Given the description of an element on the screen output the (x, y) to click on. 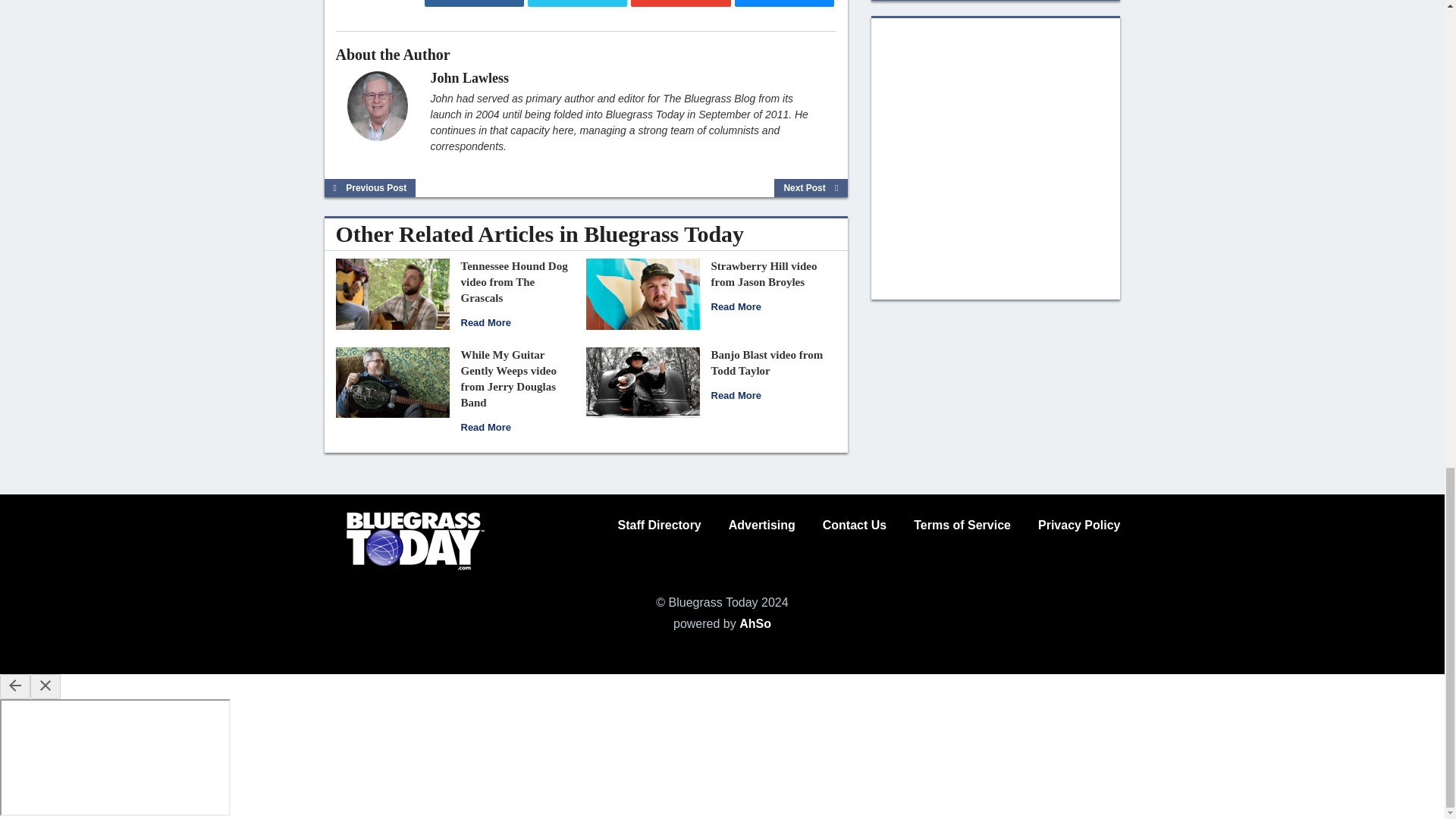
Tennessee Hound Dog video from The Grascals (391, 292)
While My Guitar Gently Weeps video from Jerry Douglas Band (508, 378)
Tennessee Hound Dog video from The Grascals (486, 322)
FACEBOOK (474, 3)
Tennessee Hound Dog video from The Grascals (514, 281)
Strawberry Hill video from Jason Broyles (736, 306)
Banjo Blast video from Todd Taylor (641, 381)
While My Guitar Gently Weeps video from Jerry Douglas Band (391, 381)
While My Guitar Gently Weeps video from Jerry Douglas Band (486, 427)
TWITTER (577, 3)
Strawberry Hill video from Jason Broyles (763, 274)
Strawberry Hill video from Jason Broyles (641, 292)
